Given the description of an element on the screen output the (x, y) to click on. 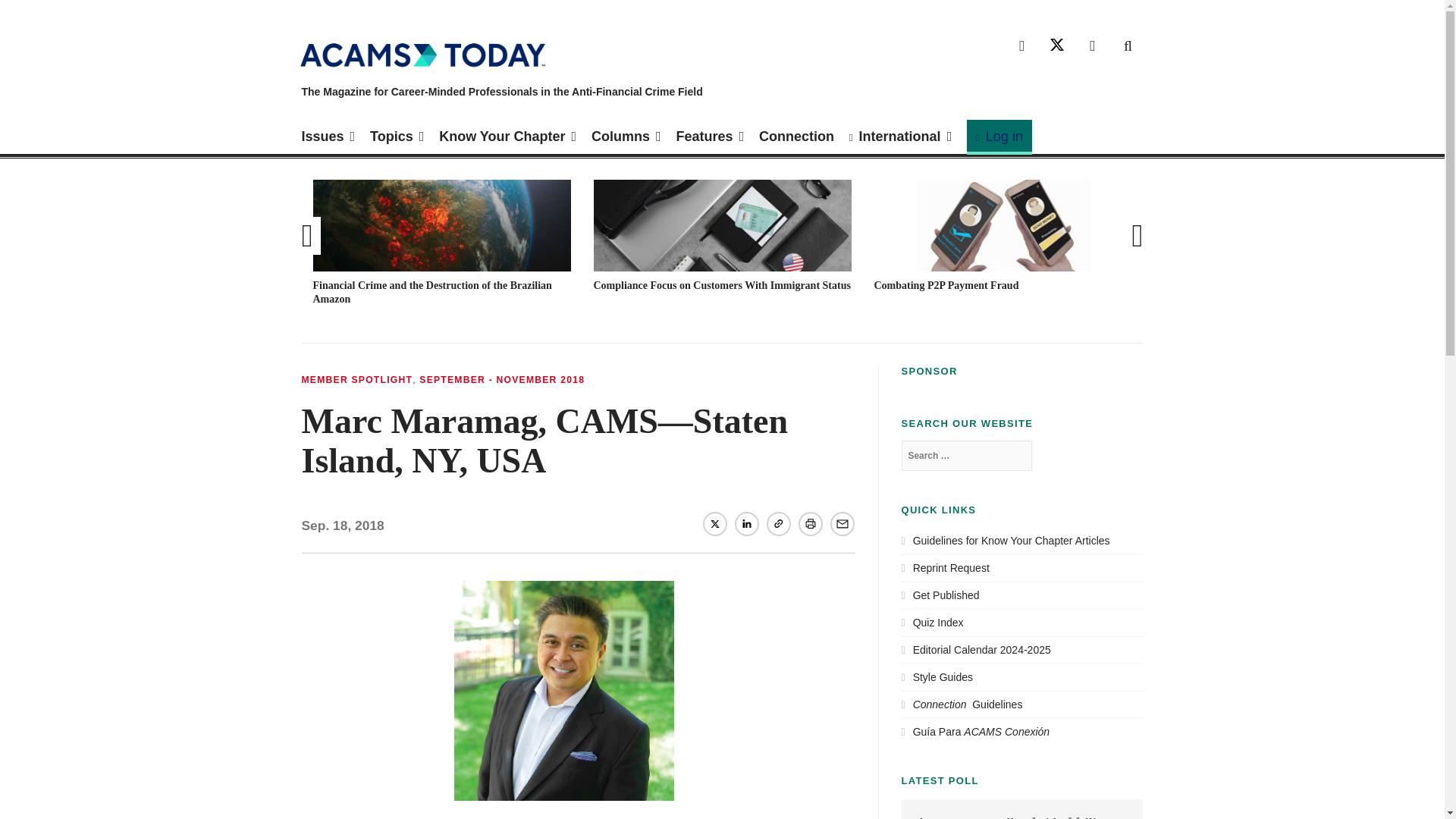
Log in (999, 136)
Twitter (714, 523)
Twitter (1056, 45)
Facebook (1021, 45)
copy (778, 523)
LinkedIn (746, 523)
LinkedIn (1092, 45)
